Given the description of an element on the screen output the (x, y) to click on. 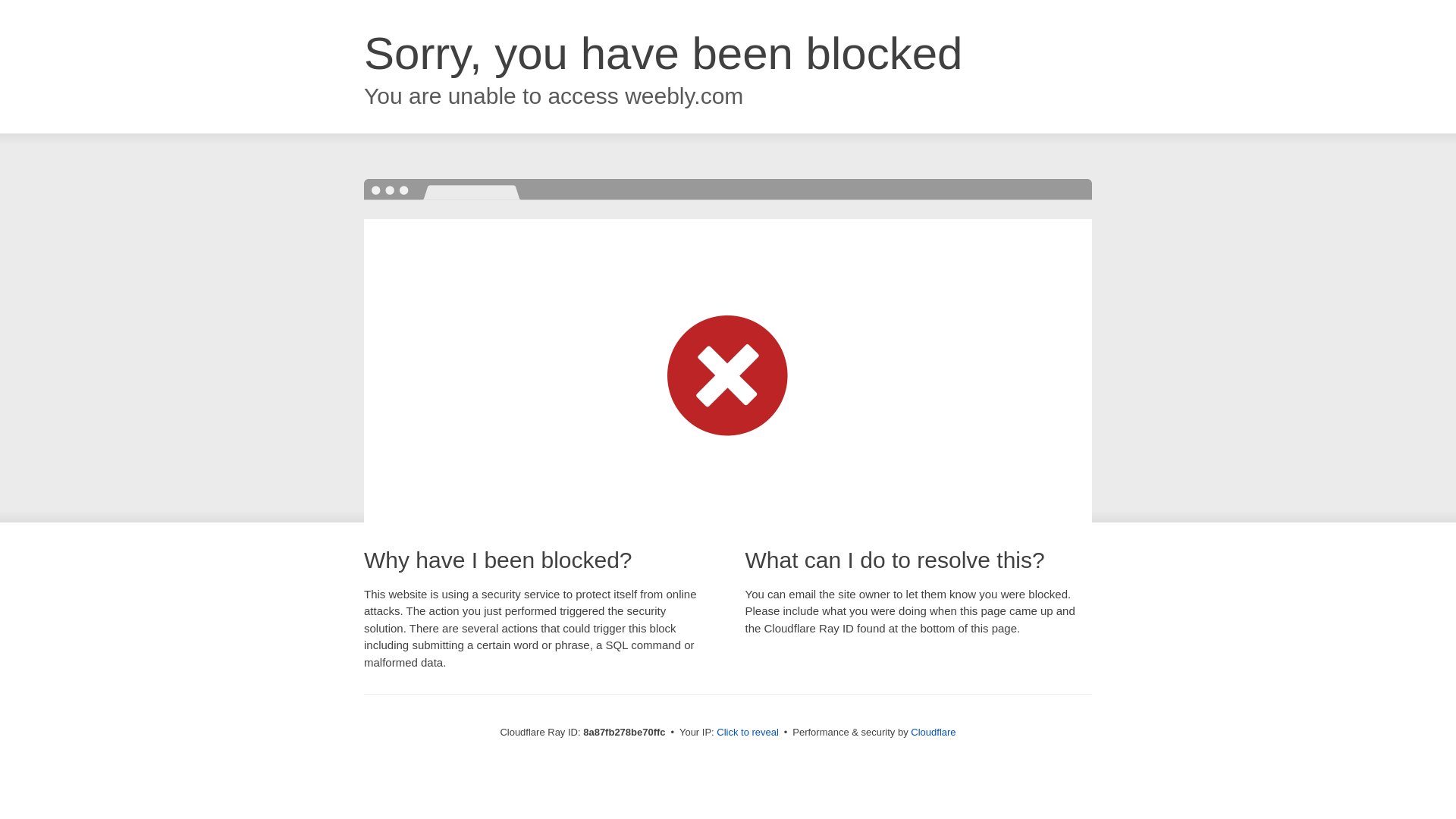
Cloudflare (933, 731)
Click to reveal (747, 732)
